Given the description of an element on the screen output the (x, y) to click on. 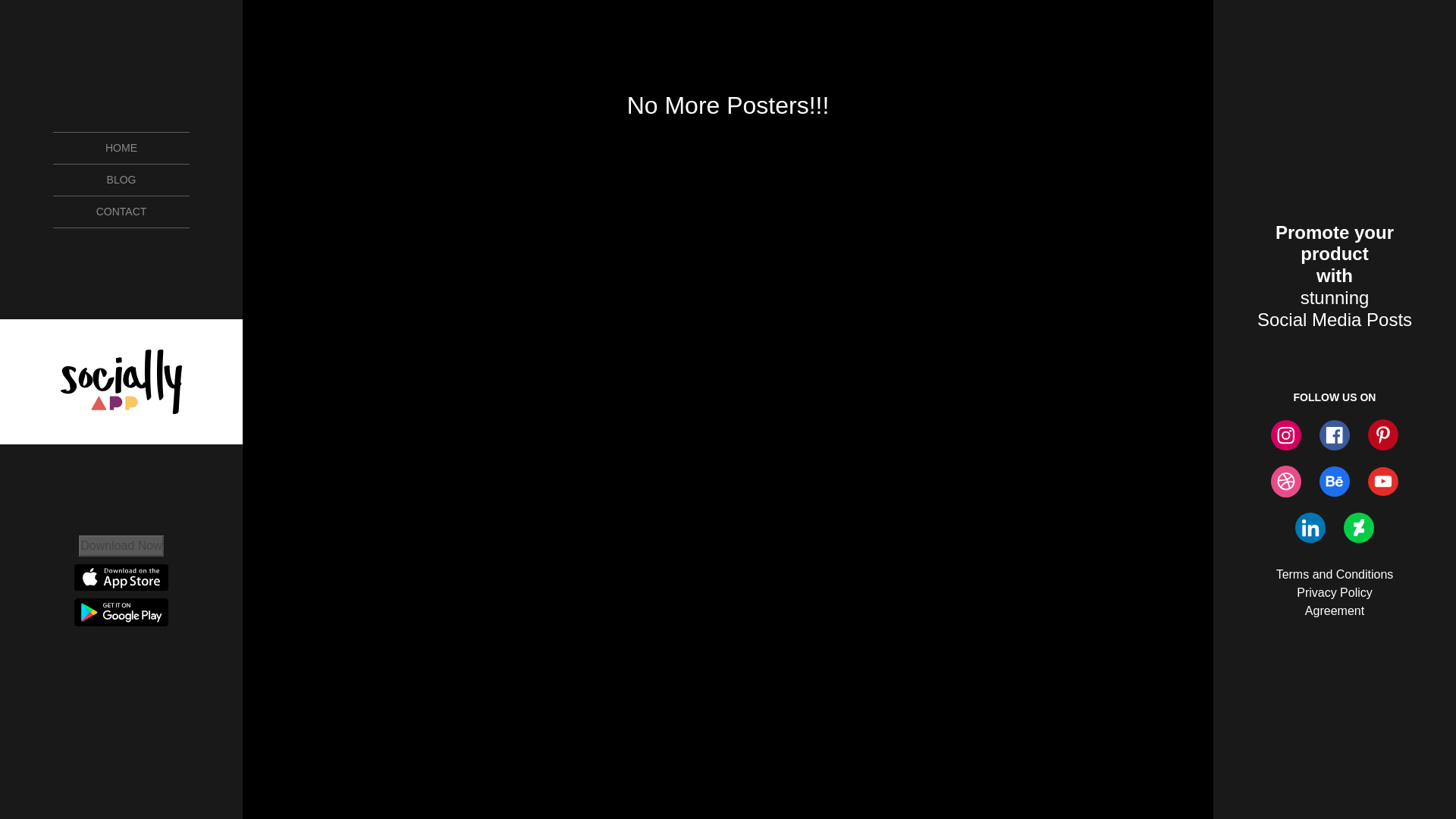
No More Posters!!! (727, 104)
